Given the description of an element on the screen output the (x, y) to click on. 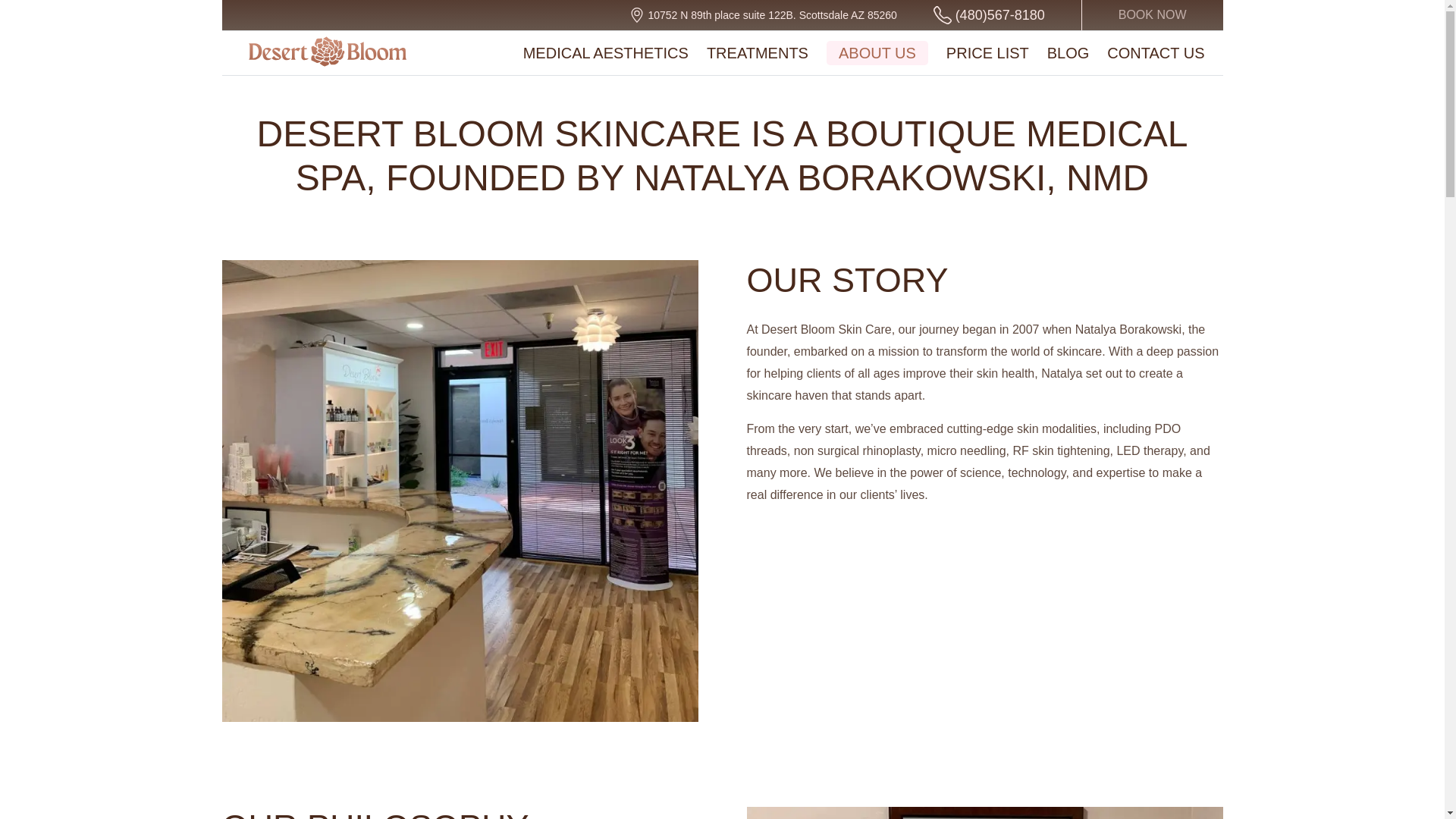
CONTACT US (1155, 53)
ABOUT US (877, 52)
BLOG (1067, 53)
MEDICAL AESTHETICS (605, 53)
TREATMENTS (757, 53)
BOOK NOW (1152, 15)
PRICE LIST (987, 53)
